Given the description of an element on the screen output the (x, y) to click on. 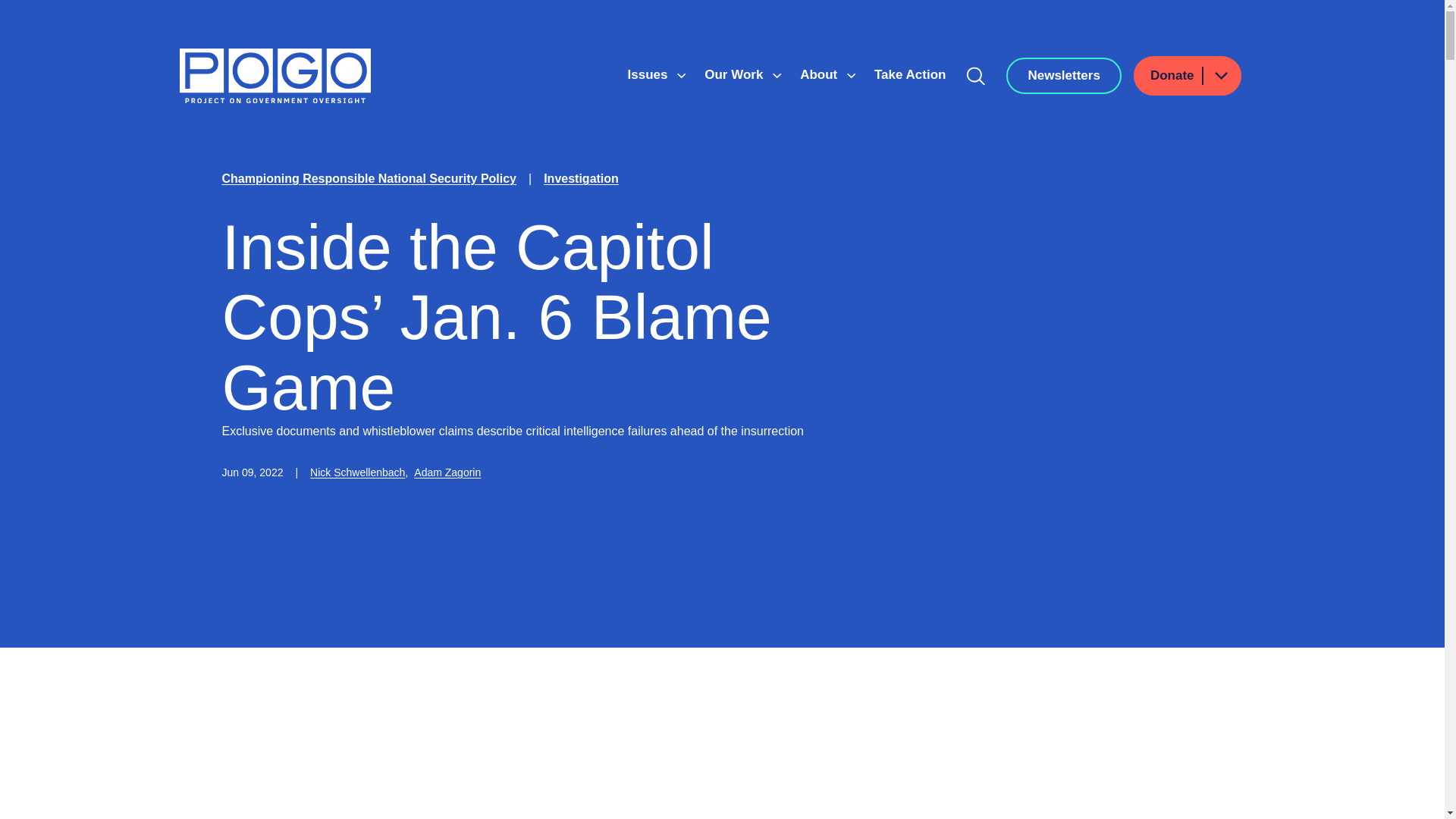
Our Work (735, 74)
Newsletters (1063, 75)
Take Action (909, 74)
Donate (1187, 75)
Search (976, 75)
Issues (649, 74)
About (820, 74)
Show submenu for Issues (681, 75)
Show submenu for About (851, 75)
Show submenu for Our Work (777, 75)
Home (274, 75)
Show submenu for Donate (1220, 75)
